Given the description of an element on the screen output the (x, y) to click on. 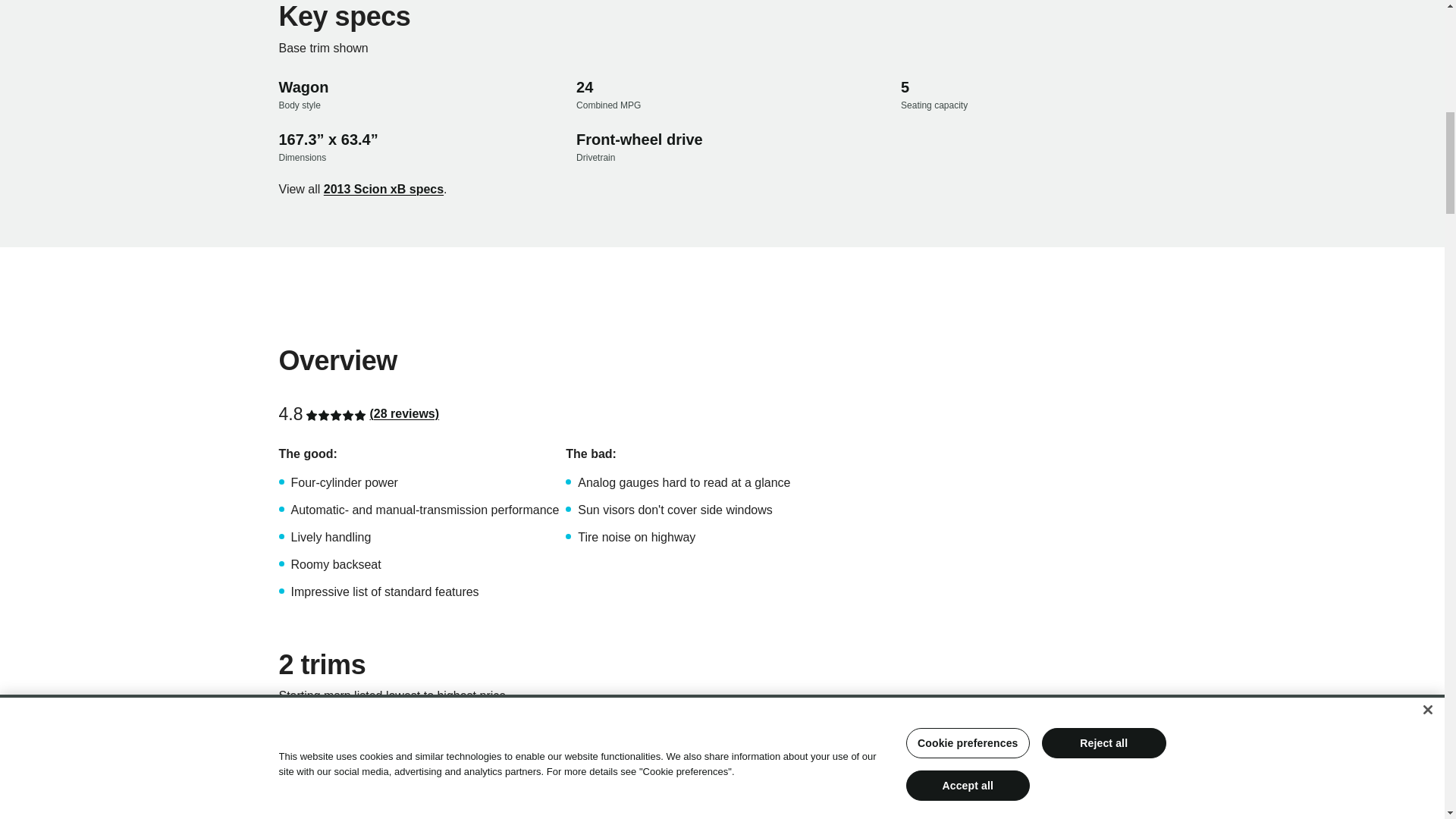
2013 Scion xB specs (383, 189)
Base (293, 737)
10 Series (305, 776)
